Given the description of an element on the screen output the (x, y) to click on. 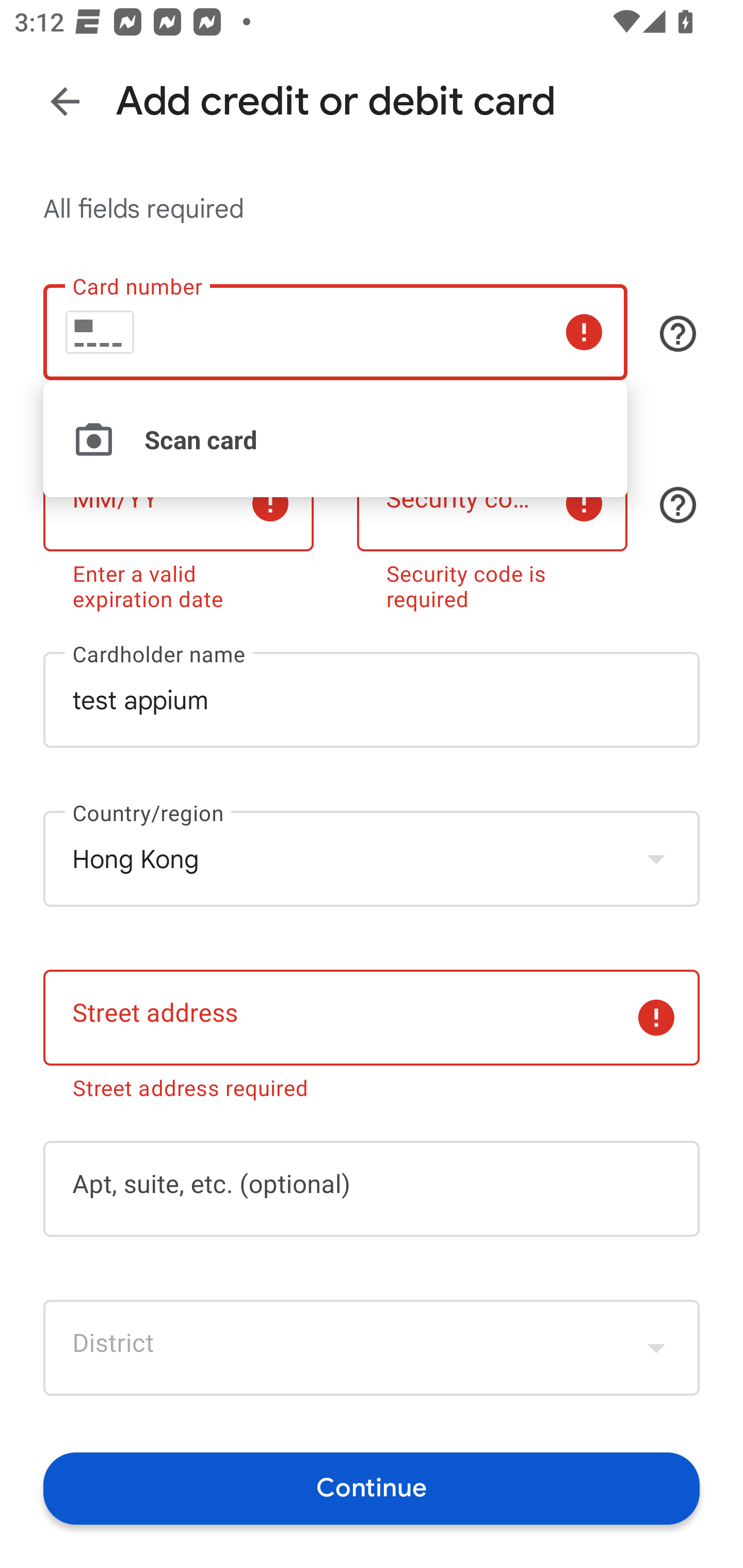
Back (64, 101)
Card number (335, 331)
Button, shows cards that are accepted for payment (677, 333)
Security code help (677, 504)
test appium (371, 699)
Hong Kong (371, 858)
Show dropdown menu (655, 858)
Street address (371, 1017)
Apt, suite, etc. (optional) (371, 1189)
District (371, 1347)
Show dropdown menu (655, 1347)
Continue (371, 1487)
